Given the description of an element on the screen output the (x, y) to click on. 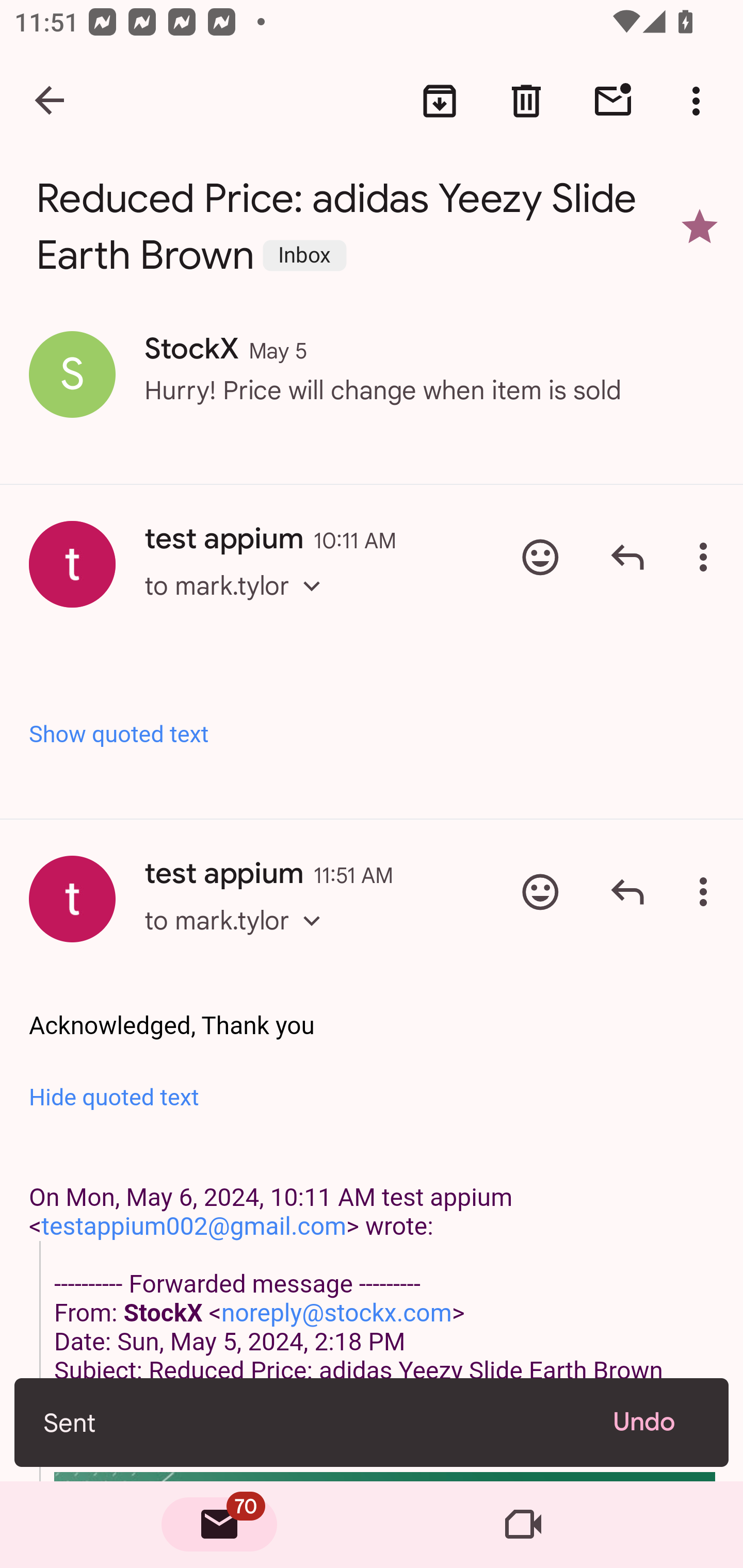
Navigate up (50, 101)
Archive (439, 101)
Delete (525, 101)
Mark unread (612, 101)
More options (699, 101)
Remove star (699, 226)
Show contact information for StockX (71, 373)
Add emoji reaction (540, 557)
Reply (626, 557)
More options (706, 557)
Show contact information for test appium (71, 564)
to mark.tylor (238, 604)
Show quoted text (372, 733)
Add emoji reaction (540, 891)
Reply (626, 891)
More options (706, 891)
Show contact information for test appium (71, 899)
to mark.tylor (238, 938)
testappium002@gmail.com (193, 1225)
noreply@stockx.com (336, 1313)
Undo (655, 1422)
Meet (523, 1524)
